Given the description of an element on the screen output the (x, y) to click on. 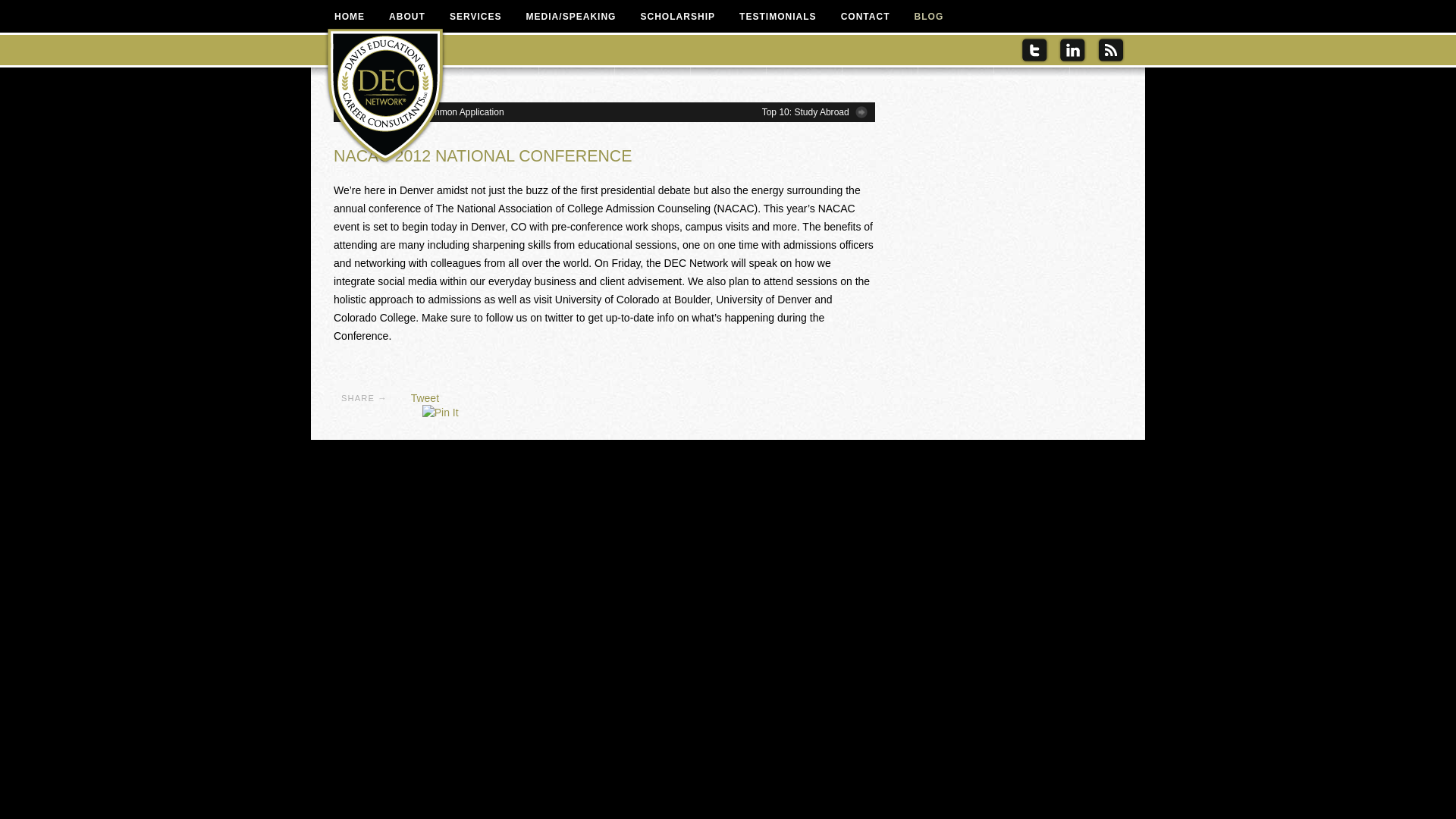
BLOG (929, 16)
TESTIMONIALS (777, 16)
Top 10: Study Abroad (814, 111)
CONTACT (865, 16)
Tweet (424, 398)
HOME (349, 16)
ABOUT (407, 16)
Pin It (440, 412)
SERVICES (475, 16)
SCHOLARSHIP (676, 16)
